Given the description of an element on the screen output the (x, y) to click on. 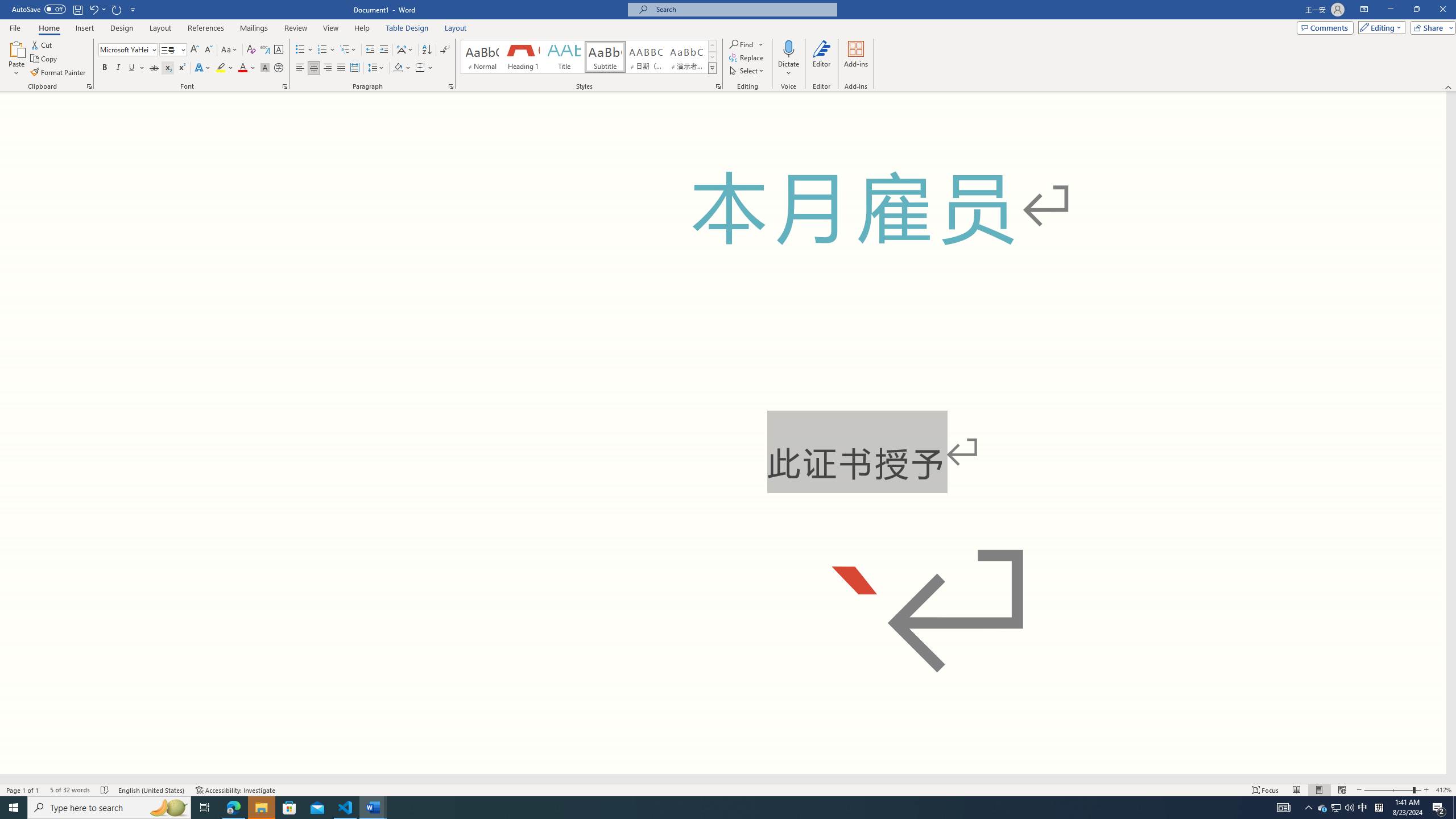
Page Number Page 1 of 1 (22, 790)
